Given the description of an element on the screen output the (x, y) to click on. 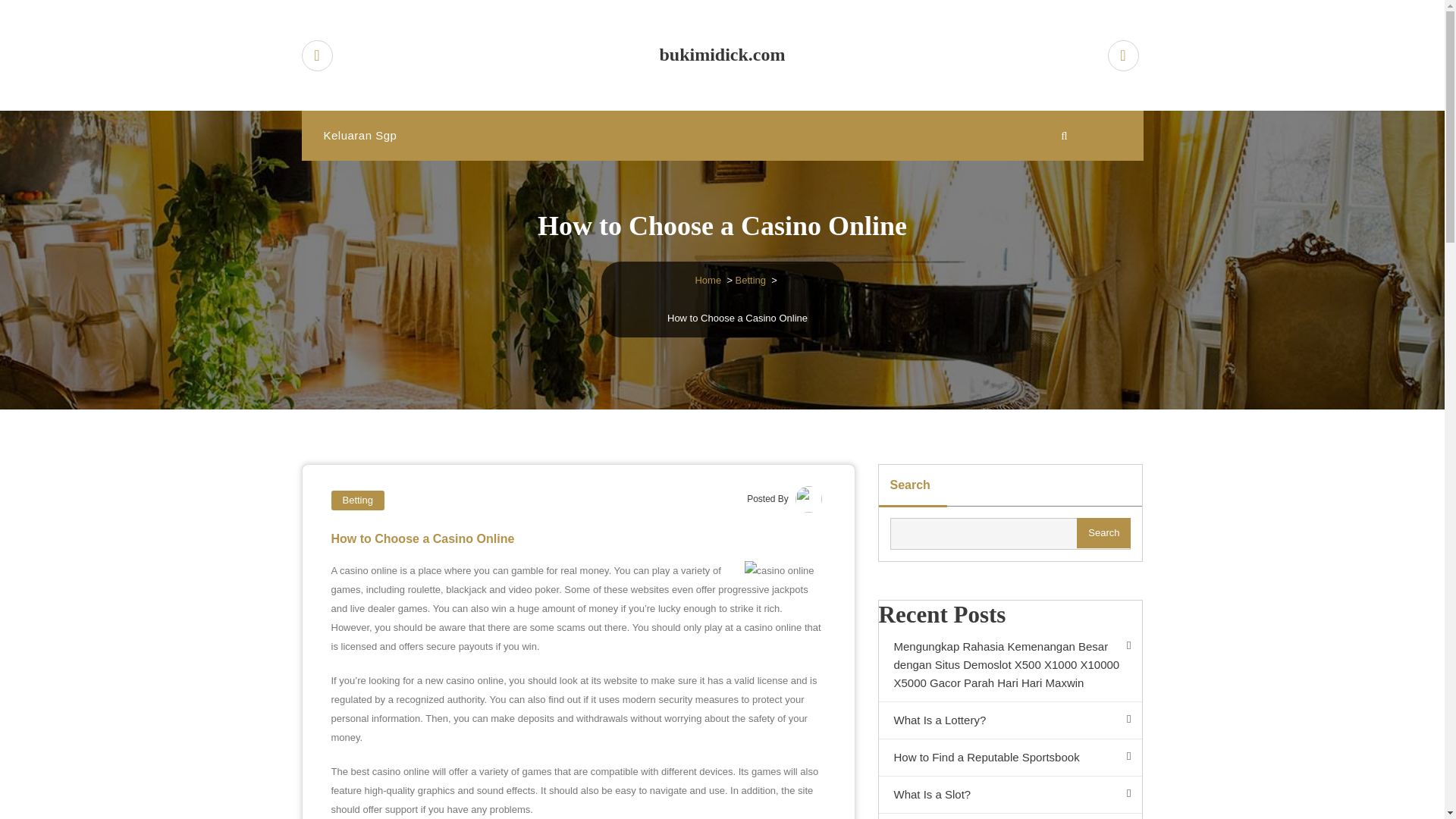
Keluaran Sgp (360, 135)
Betting (750, 279)
How to Find a Reputable Sportsbook (1009, 757)
bukimidick.com (722, 54)
Home (707, 279)
Keluaran Sgp (360, 135)
Search (1104, 532)
What Is a Slot? (1009, 795)
What Is a Lottery? (1009, 720)
Improve Your Chances of Winning at Poker (1009, 816)
Betting (357, 500)
